Given the description of an element on the screen output the (x, y) to click on. 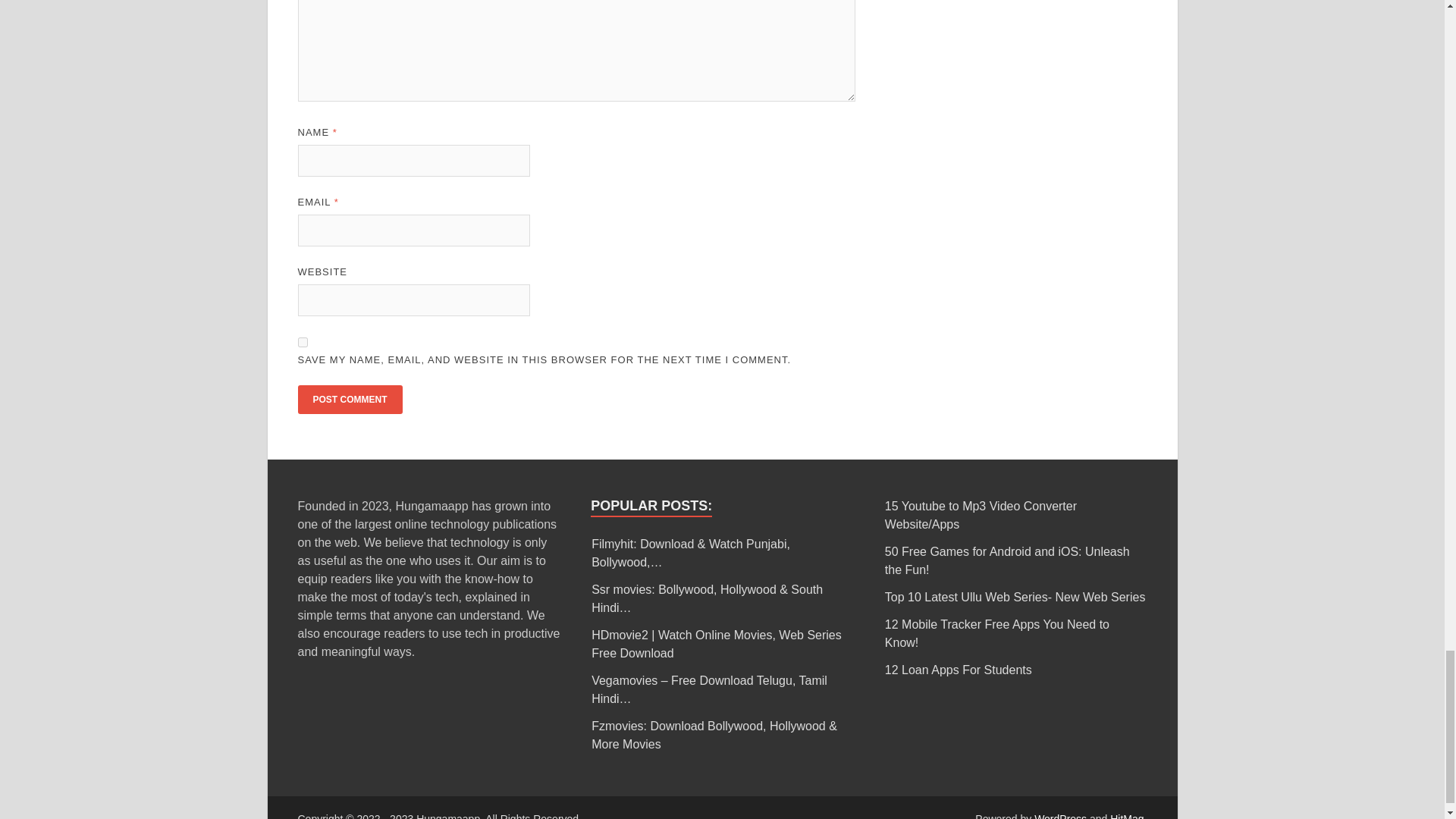
yes (302, 342)
Post Comment (349, 399)
Post Comment (349, 399)
